Given the description of an element on the screen output the (x, y) to click on. 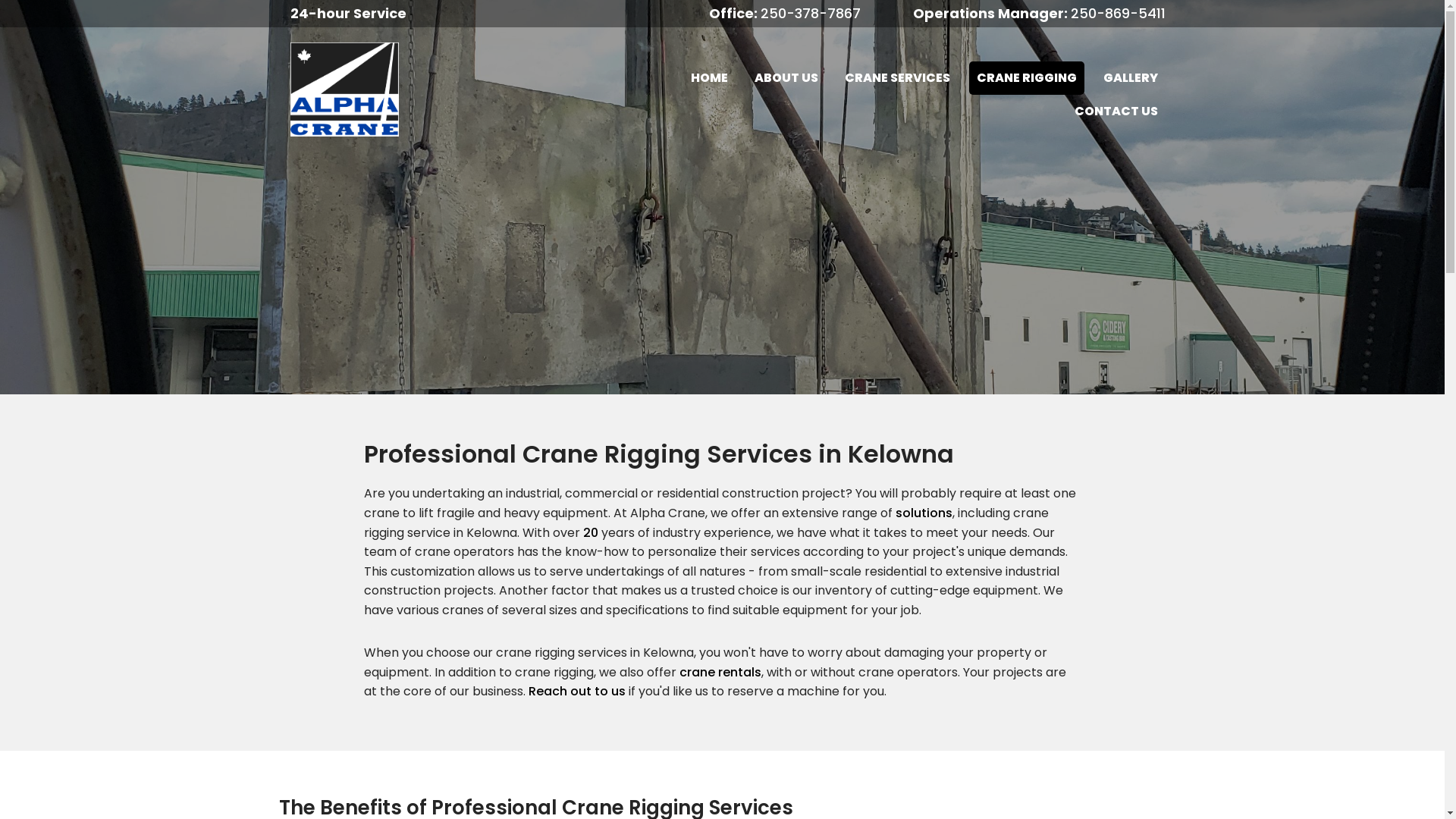
GALLERY Element type: text (1130, 78)
HOME Element type: text (709, 78)
crane rentals Element type: text (720, 671)
ABOUT US Element type: text (785, 78)
solutions Element type: text (923, 512)
CRANE SERVICES Element type: text (897, 78)
CRANE RIGGING Element type: text (1026, 78)
20 Element type: text (590, 532)
CONTACT US Element type: text (1115, 111)
250-378-7867 Element type: text (812, 12)
Reach out to us Element type: text (576, 690)
250-869-5411 Element type: text (1117, 12)
